Given the description of an element on the screen output the (x, y) to click on. 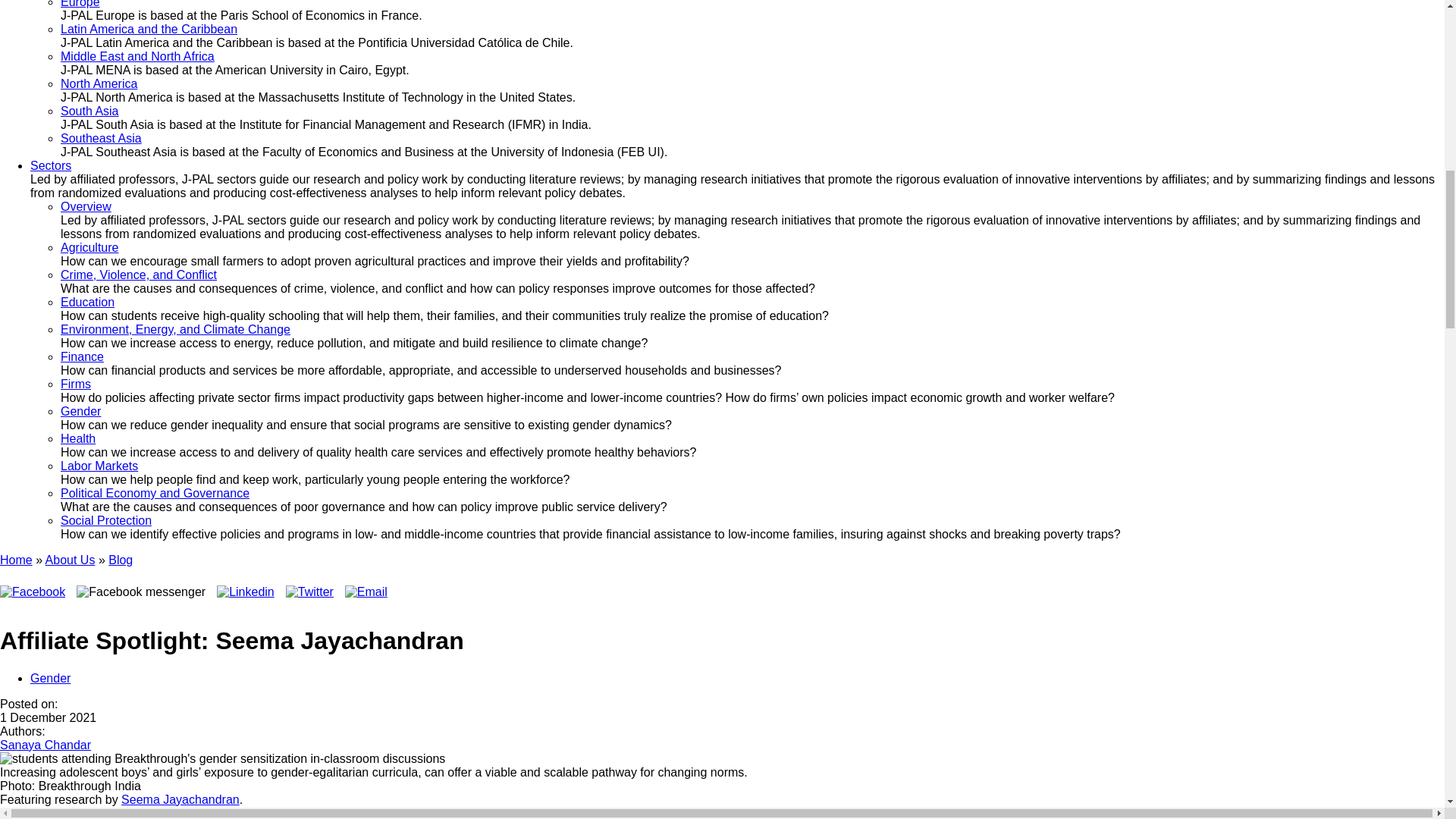
Twitter (309, 591)
Linkedin (245, 591)
Facebook (32, 591)
Email (366, 591)
Facebook messenger (141, 591)
